Given the description of an element on the screen output the (x, y) to click on. 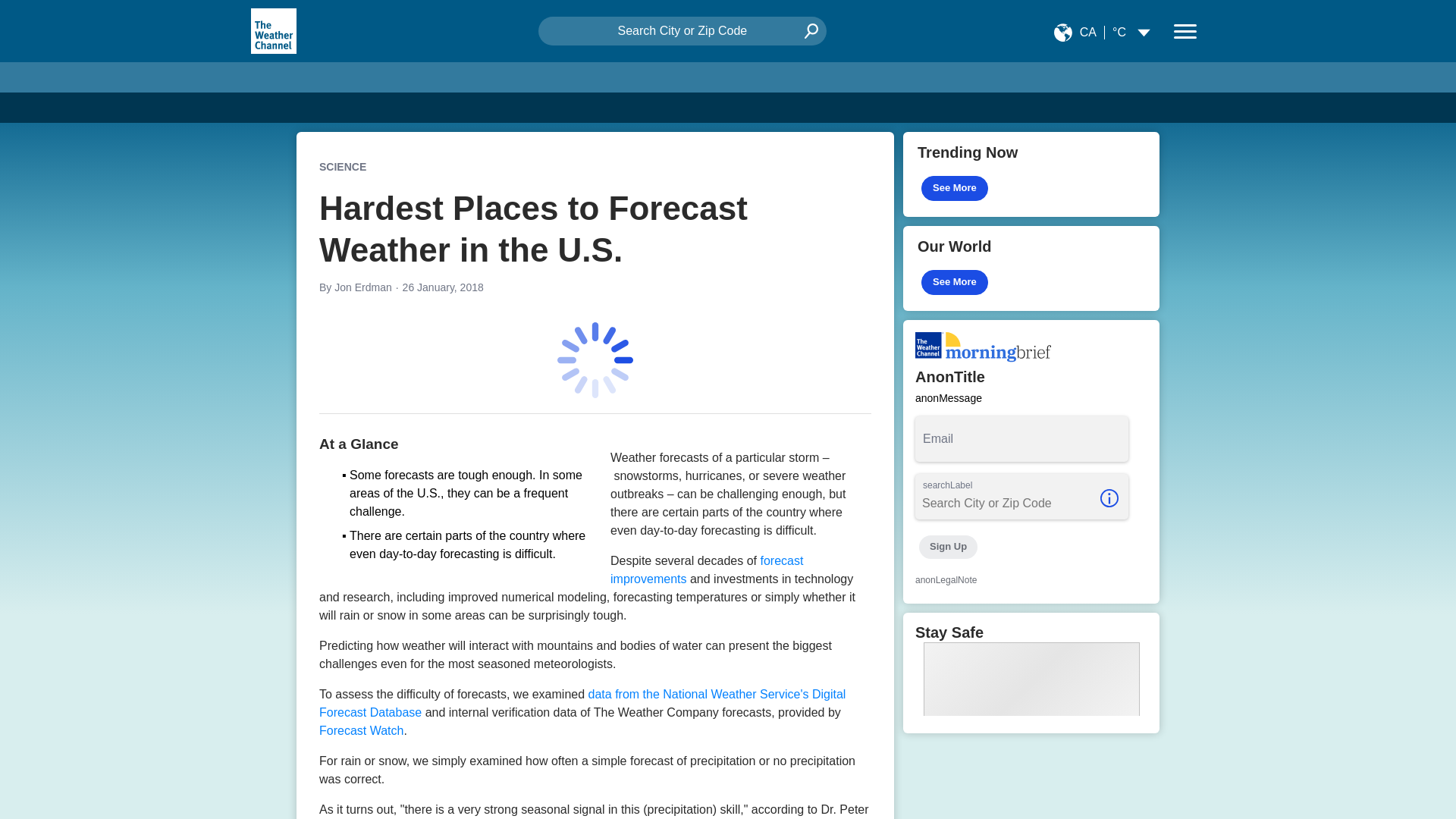
Trending Now (1030, 174)
See More (954, 282)
Stay Safe (1030, 672)
The Weather Channel (273, 30)
See More (954, 188)
Forecast Watch (360, 730)
The Weather Channel (273, 31)
forecast improvements (706, 569)
Our World (1030, 268)
